Given the description of an element on the screen output the (x, y) to click on. 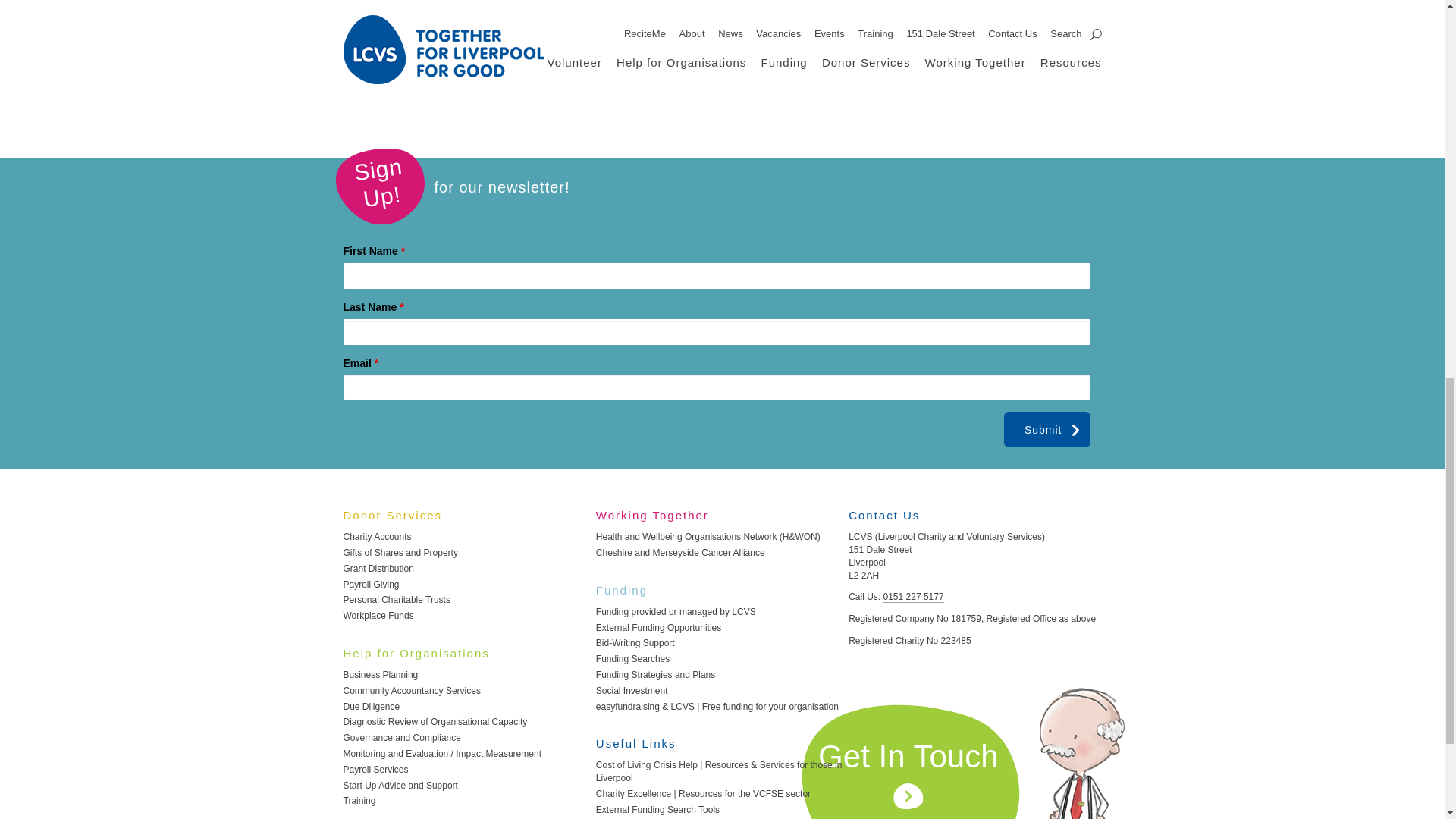
Submit (1047, 429)
